Given the description of an element on the screen output the (x, y) to click on. 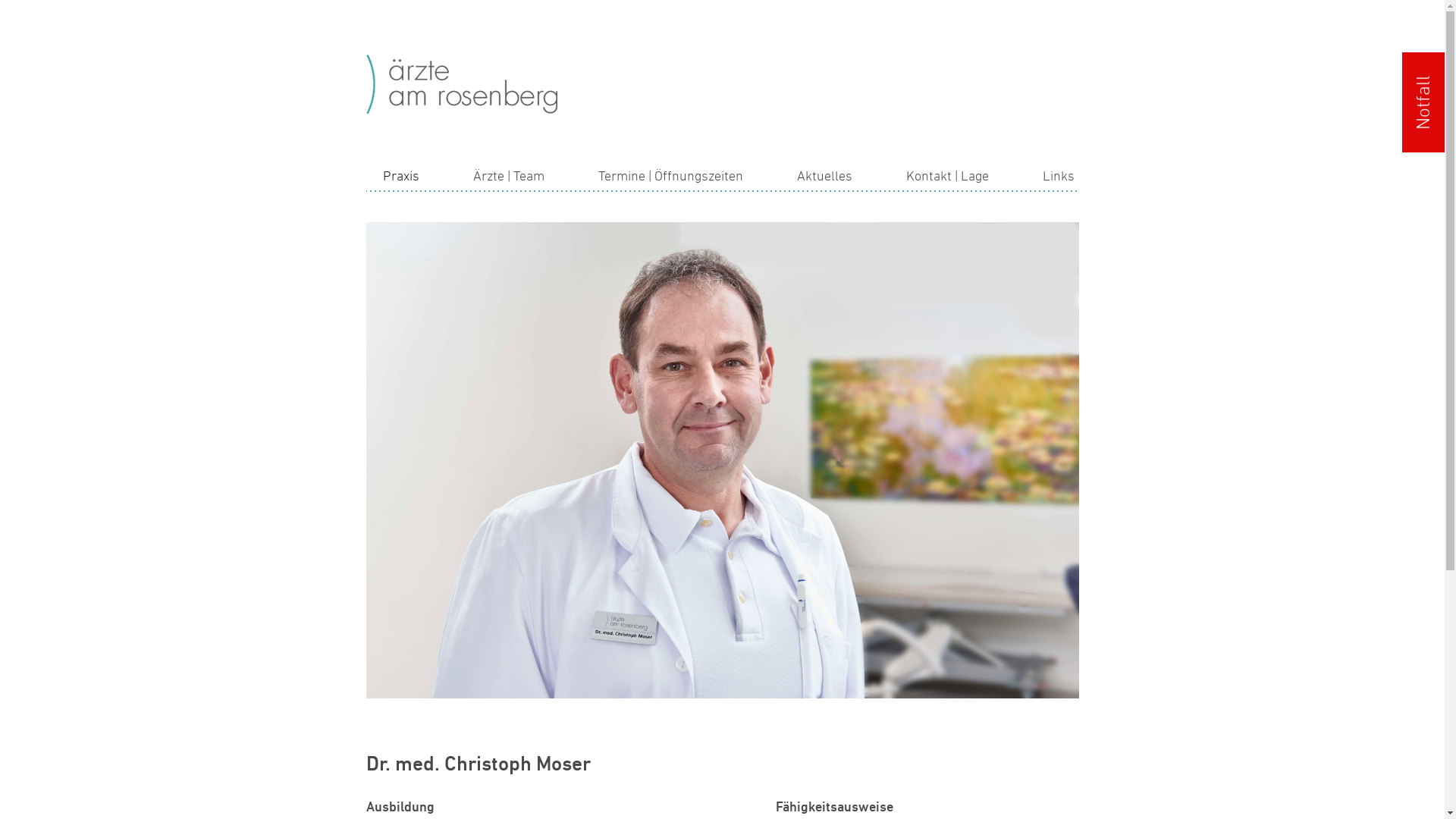
Links Element type: text (1058, 175)
Kontakt | Lage Element type: text (947, 175)
Aktuelles Element type: text (824, 175)
Praxis Element type: text (400, 175)
